Given the description of an element on the screen output the (x, y) to click on. 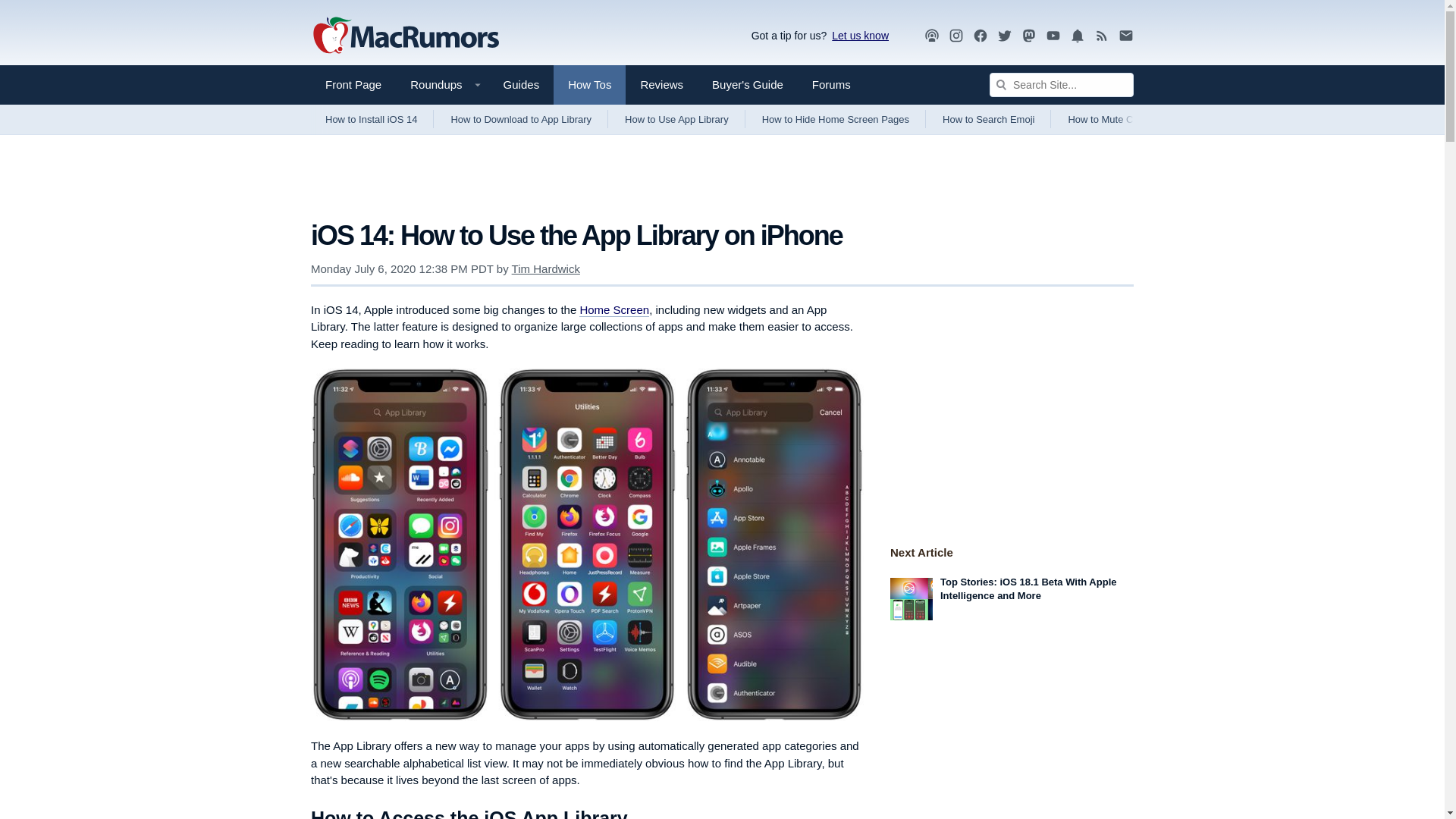
How Tos (589, 84)
RSS (1101, 35)
Twitter (1004, 35)
Mastodon (1029, 35)
Reviews (661, 84)
MacRumors on Instagram (956, 35)
Front (353, 84)
MacRumors YouTube Channel (1053, 35)
MacRumors RSS Feed (1101, 35)
Roundups (441, 84)
